Given the description of an element on the screen output the (x, y) to click on. 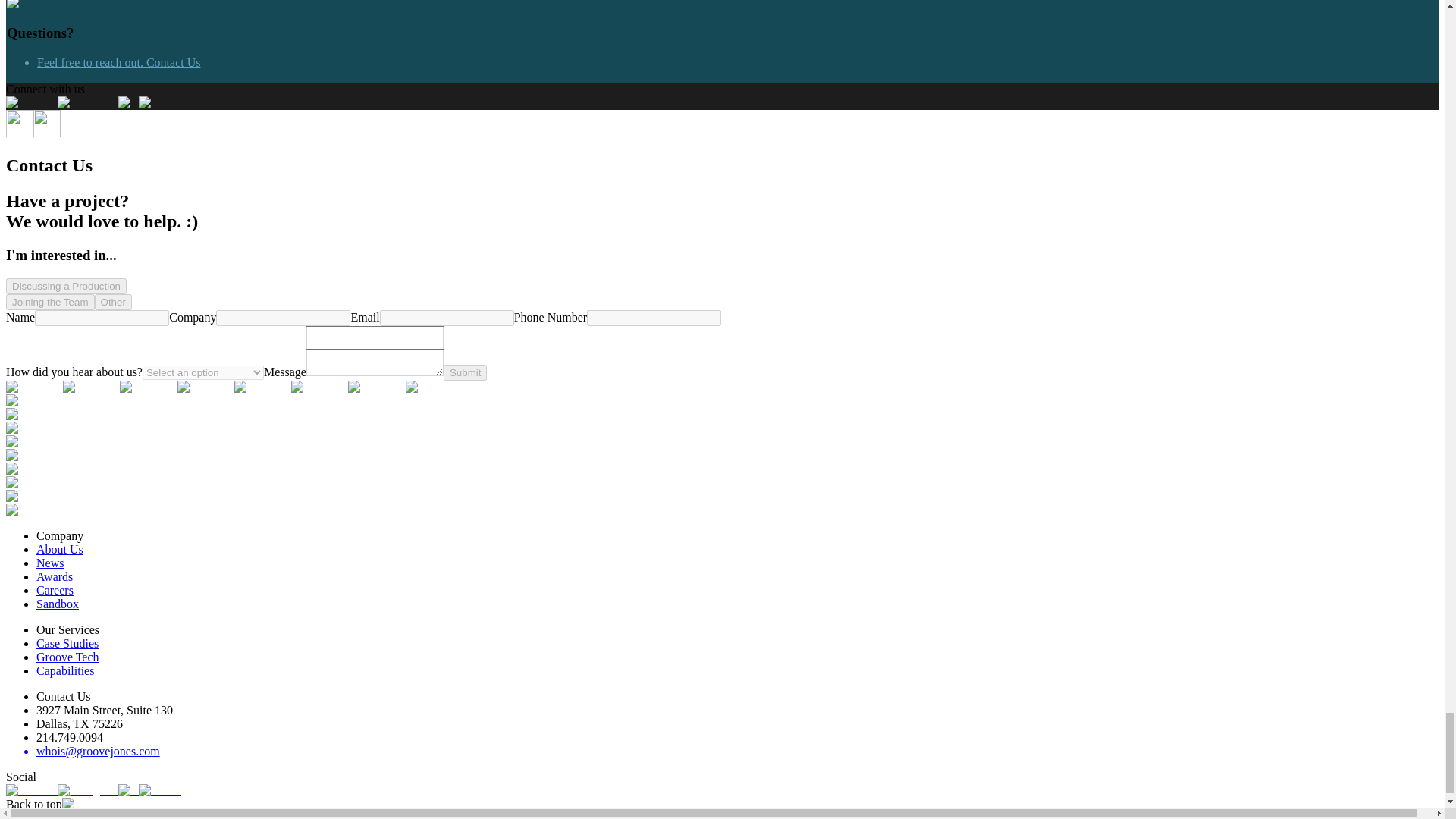
News (50, 562)
Feel free to reach out. Contact Us (118, 62)
About Us (59, 549)
Other (113, 302)
Joining the Team (49, 302)
Discussing a Production (65, 286)
Submit (465, 372)
Awards (54, 576)
